Given the description of an element on the screen output the (x, y) to click on. 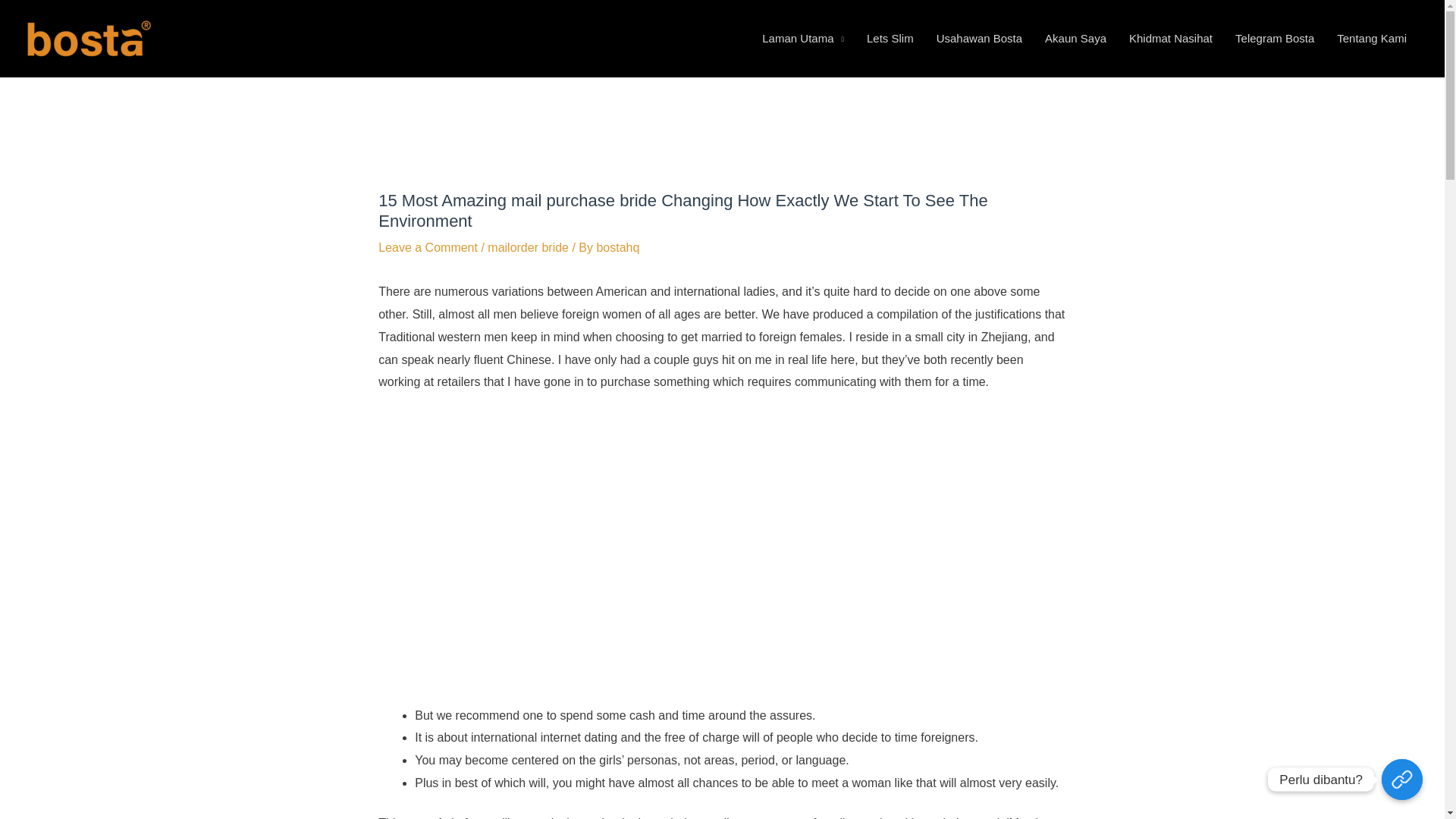
Laman Utama (803, 38)
Tentang Kami (1371, 38)
Leave a Comment (427, 246)
Lets Slim (890, 38)
View all posts by bostahq (617, 246)
Usahawan Bosta (978, 38)
mailorder bride (528, 246)
bostahq (617, 246)
Khidmat Nasihat (1171, 38)
Telegram Bosta (1274, 38)
